Given the description of an element on the screen output the (x, y) to click on. 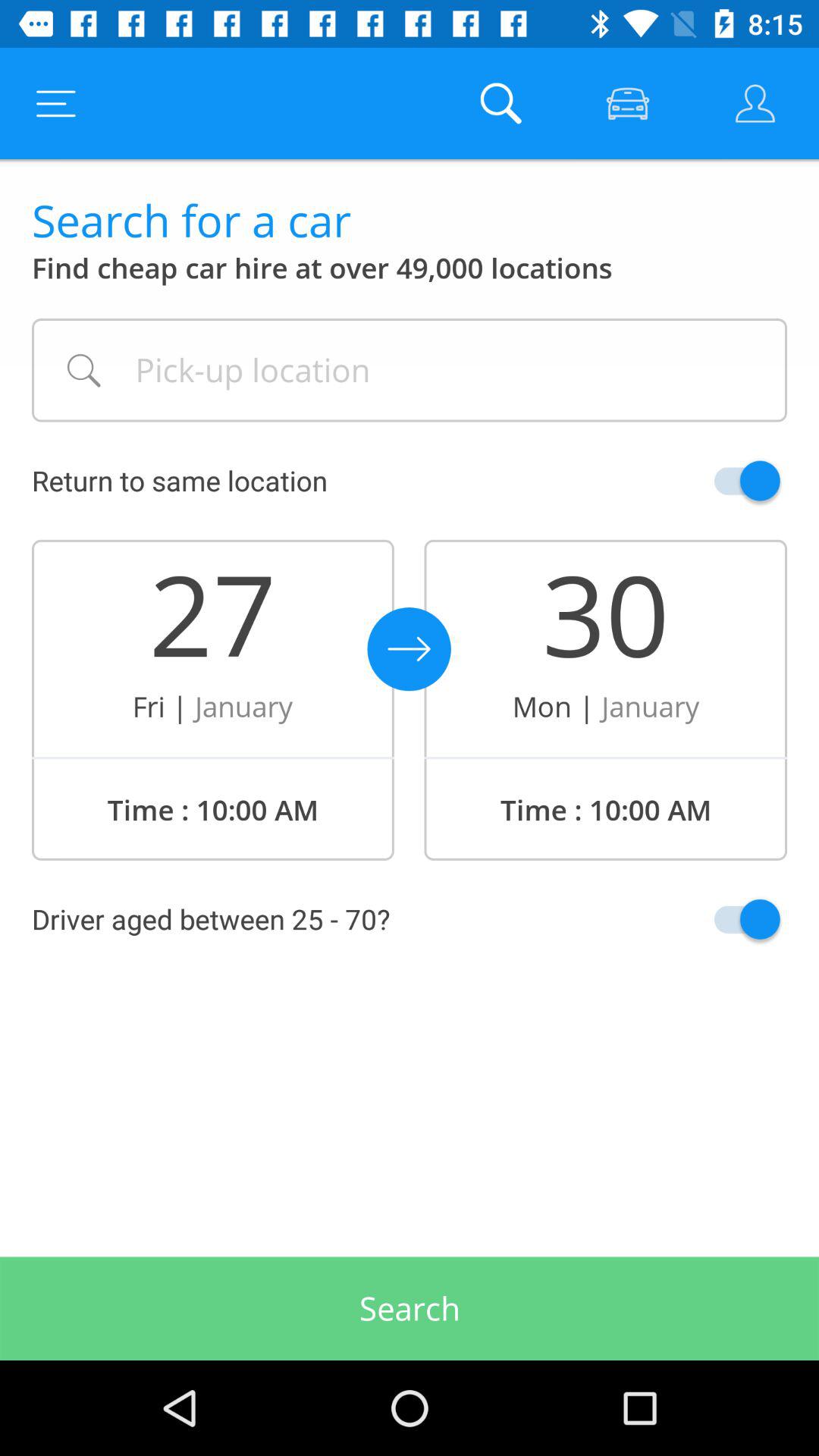
search for pick up location (409, 370)
